Given the description of an element on the screen output the (x, y) to click on. 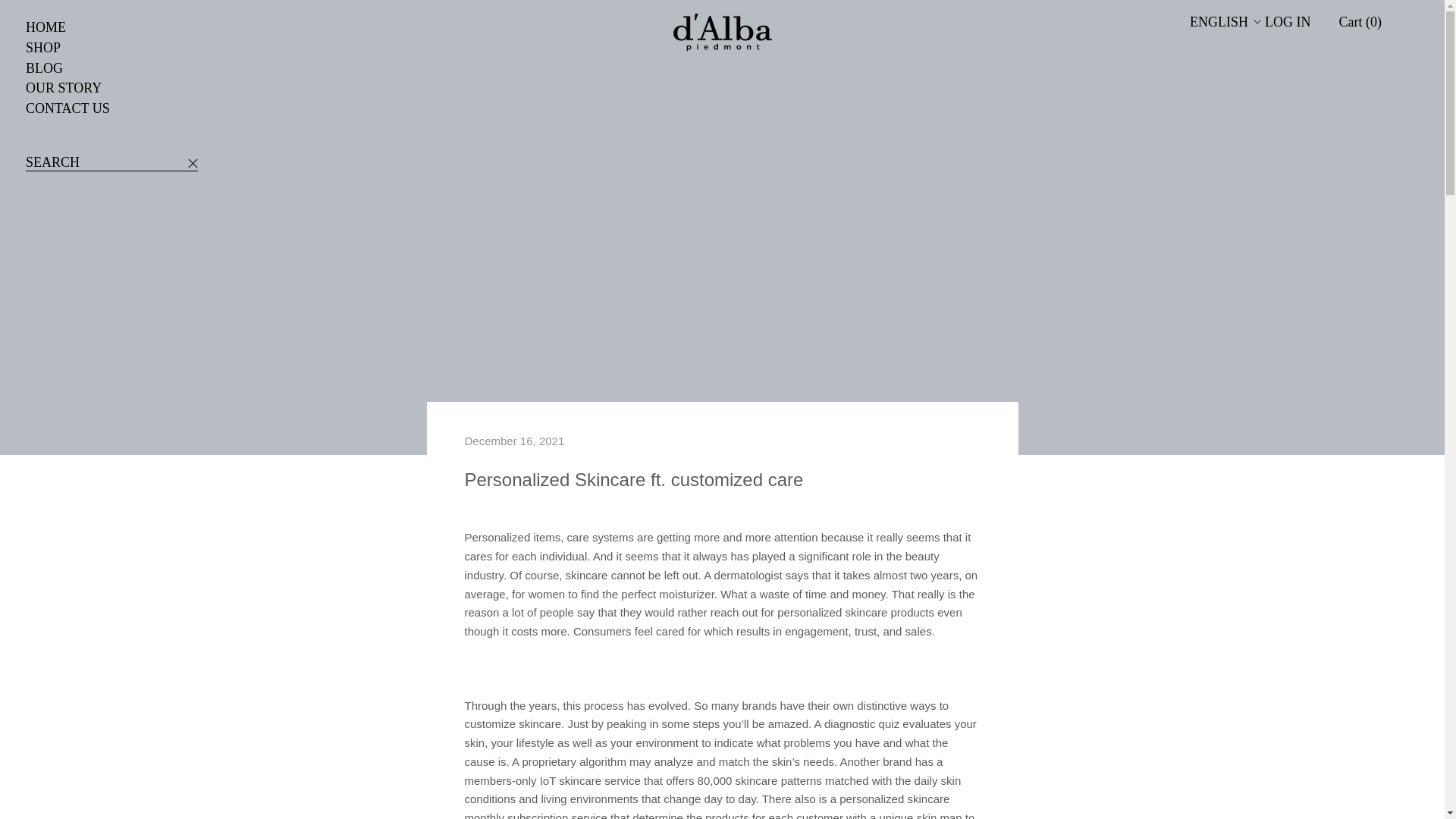
SHOP (45, 27)
